Given the description of an element on the screen output the (x, y) to click on. 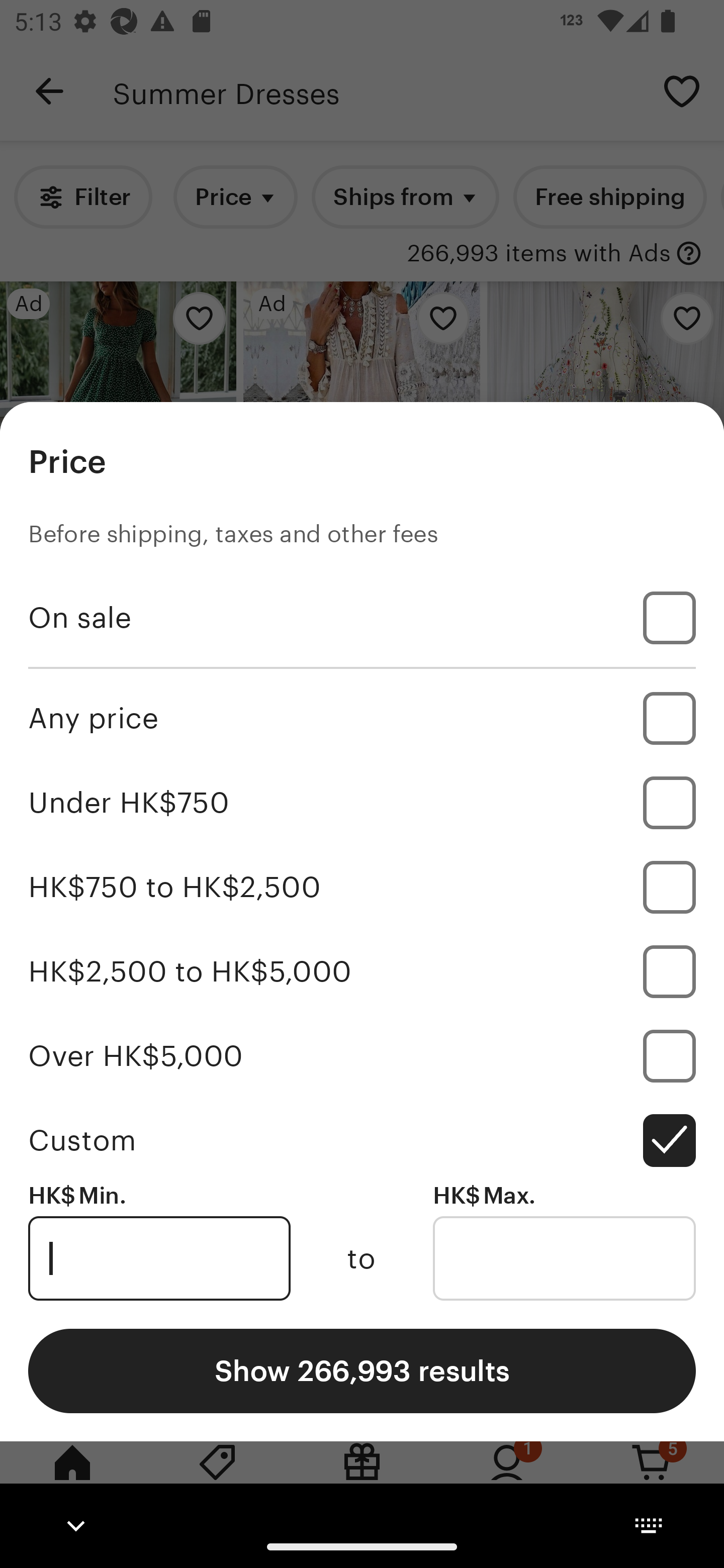
On sale (362, 617)
Any price (362, 717)
Under HK$750 (362, 802)
HK$750 to HK$2,500 (362, 887)
HK$2,500 to HK$5,000 (362, 970)
Over HK$5,000 (362, 1054)
Custom (362, 1139)
Show 266,993 results (361, 1370)
